Given the description of an element on the screen output the (x, y) to click on. 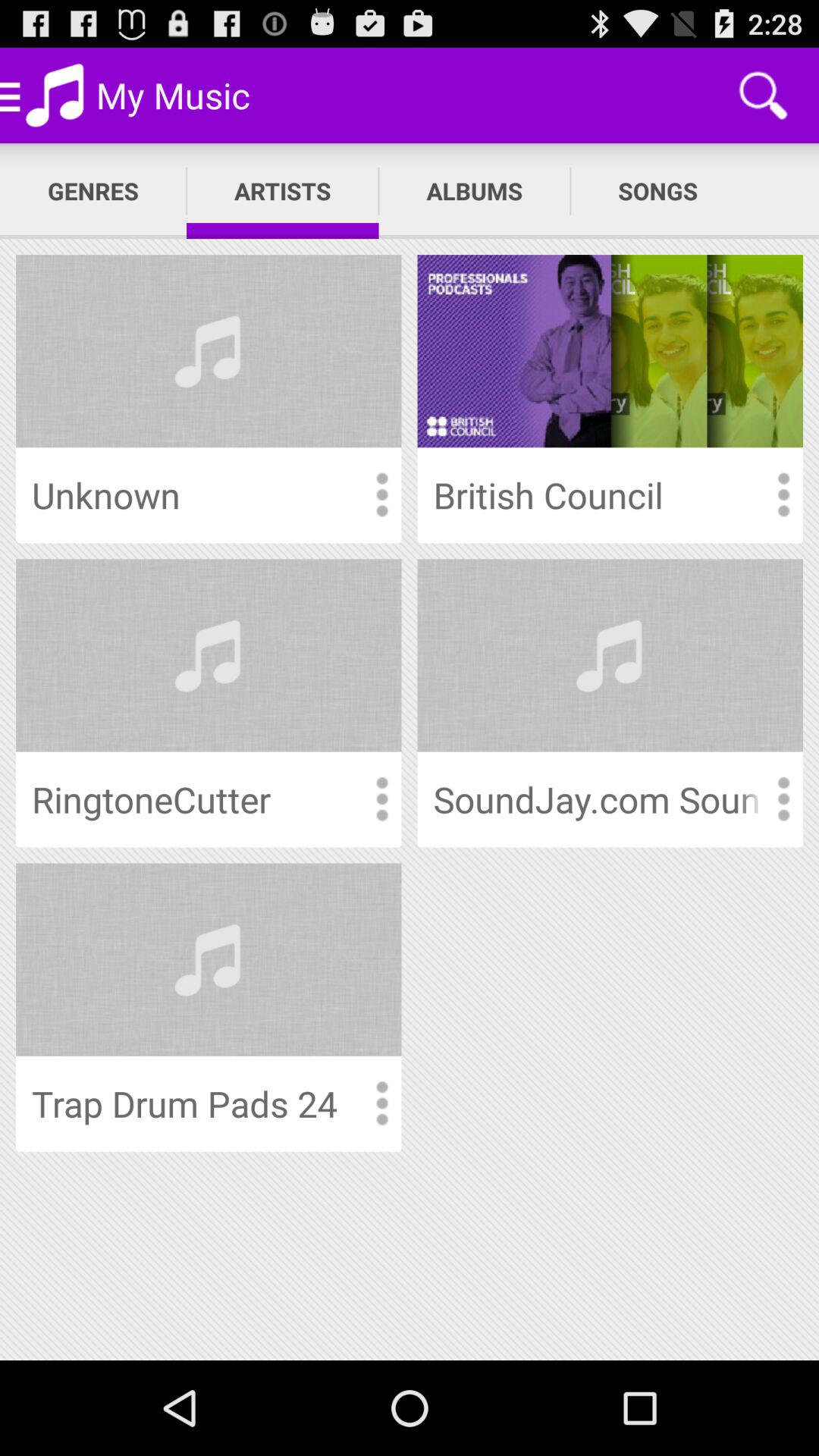
choose the app next to artists icon (474, 190)
